Given the description of an element on the screen output the (x, y) to click on. 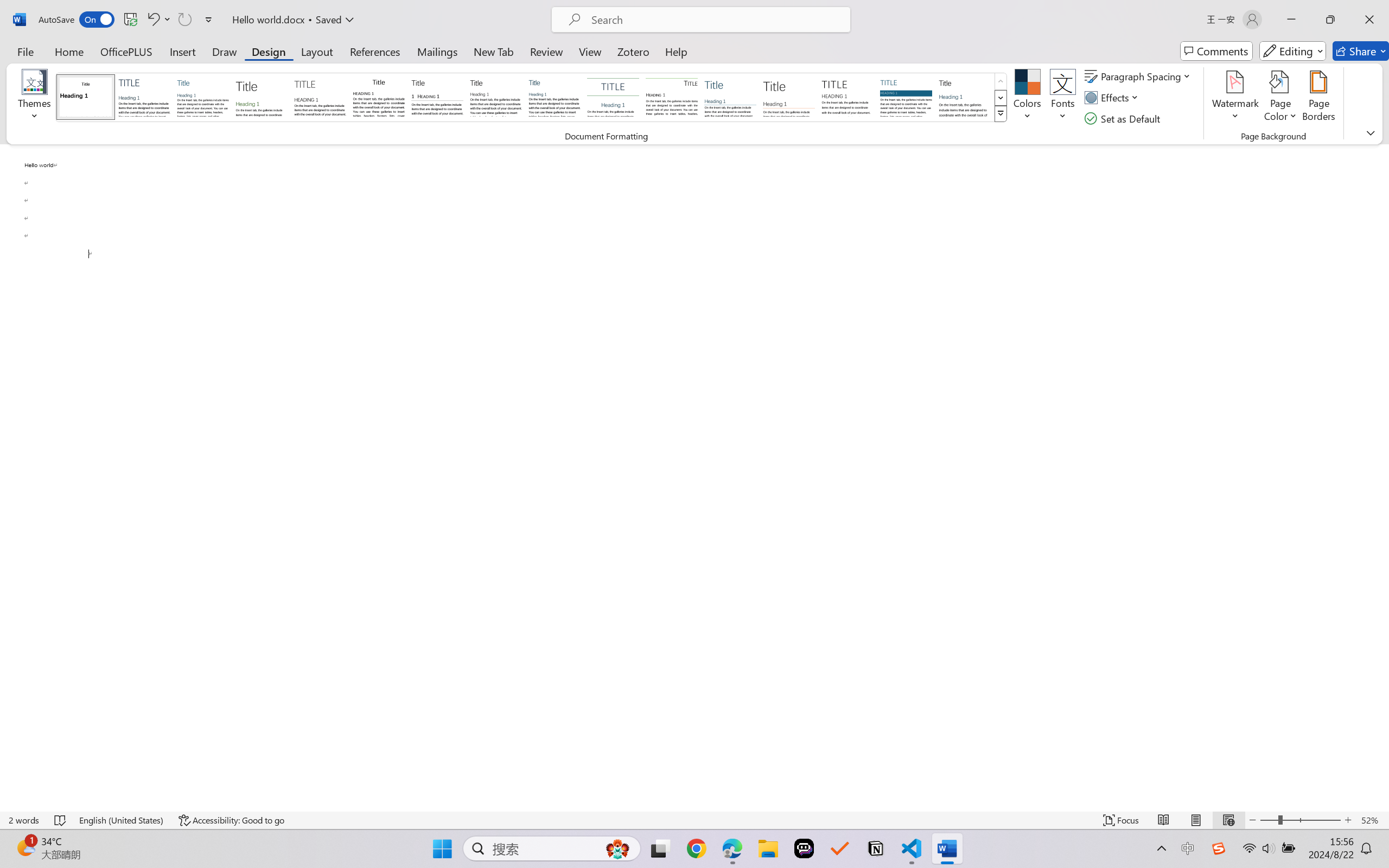
Language English (United States) (121, 819)
Help (675, 51)
Basic (Stylish) (260, 96)
Zoom (1300, 819)
Page Borders... (1318, 97)
Lines (Stylish) (788, 96)
Casual (554, 96)
Zoom In (1348, 819)
Home (69, 51)
Themes (34, 97)
OfficePLUS (126, 51)
